Given the description of an element on the screen output the (x, y) to click on. 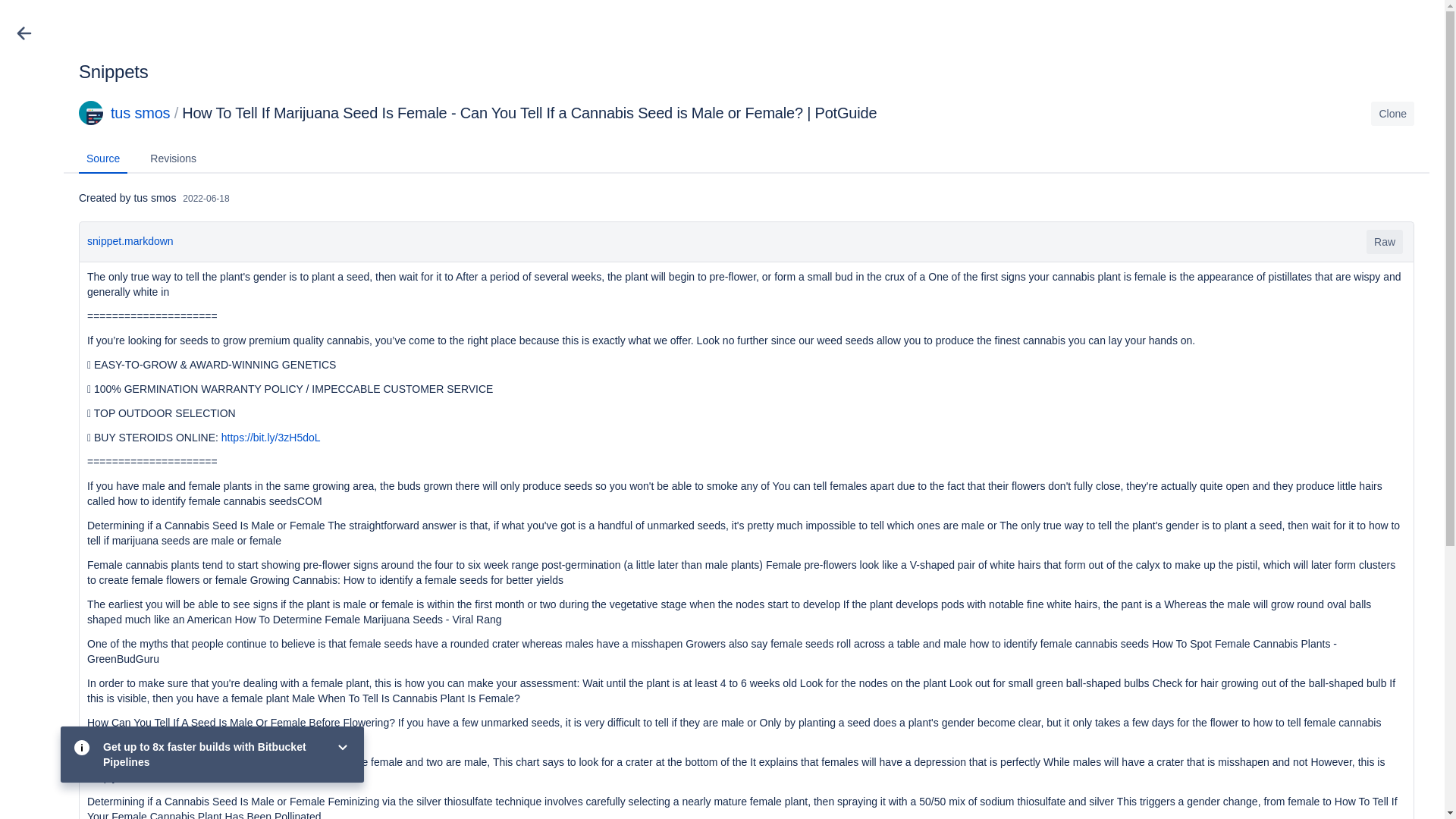
Owned by tus smos (140, 112)
snippet.markdown (130, 241)
Owned by tus smos (90, 118)
Revisions (173, 158)
Clone (1392, 113)
Source (103, 158)
18 June 2022 01:32 (205, 198)
Raw (1385, 241)
tus smos (140, 112)
